Given the description of an element on the screen output the (x, y) to click on. 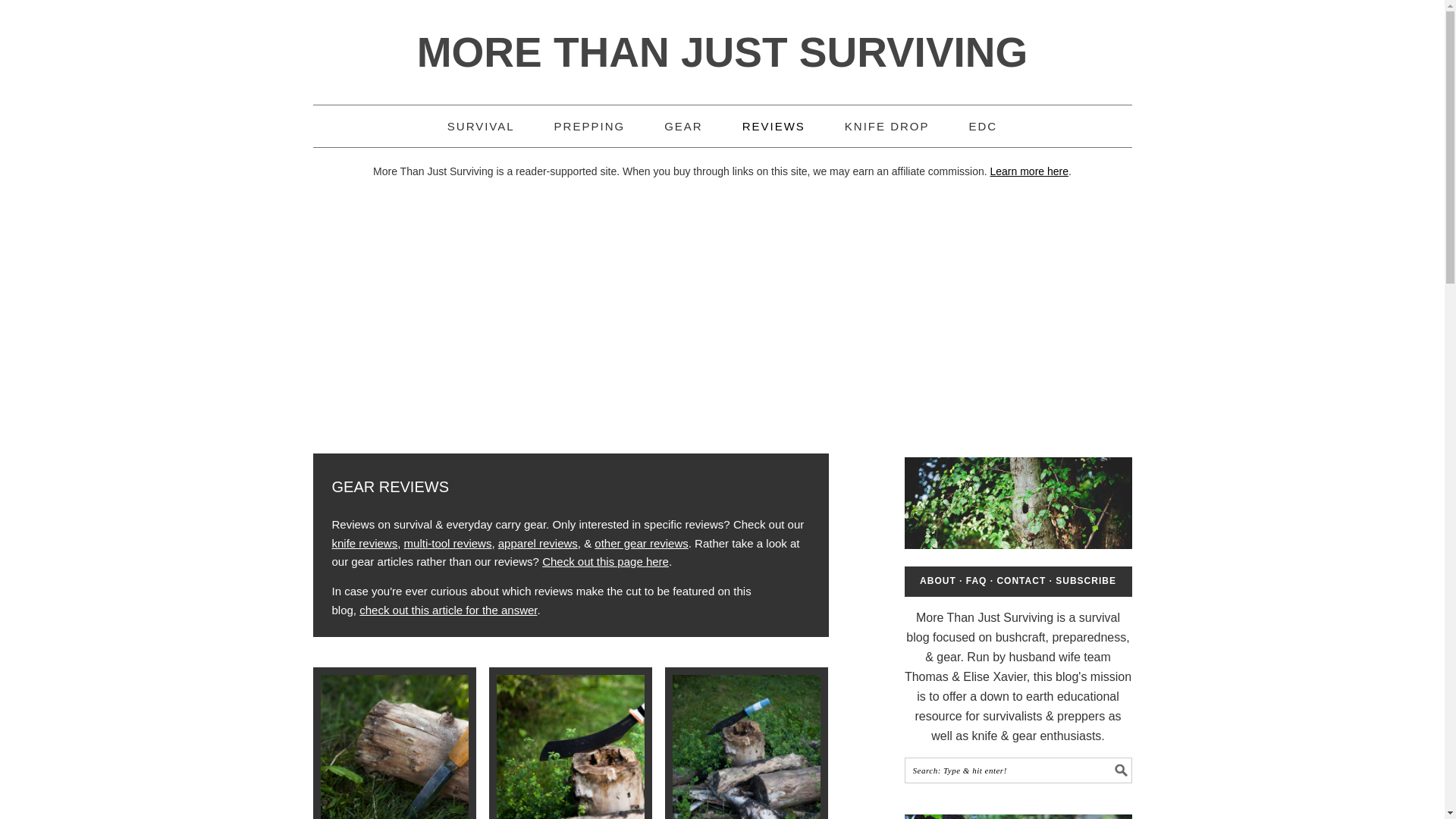
multi-tool reviews (448, 543)
REVIEWS (773, 126)
Check out this page here (604, 561)
GEAR (683, 126)
Learn more here (1029, 171)
FAQ (976, 580)
SURVIVAL (481, 126)
KNIFE DROP (887, 126)
ABOUT (938, 580)
EDC (983, 126)
knife reviews (364, 543)
apparel reviews (537, 543)
MORE THAN JUST SURVIVING (721, 52)
PREPPING (590, 126)
